Given the description of an element on the screen output the (x, y) to click on. 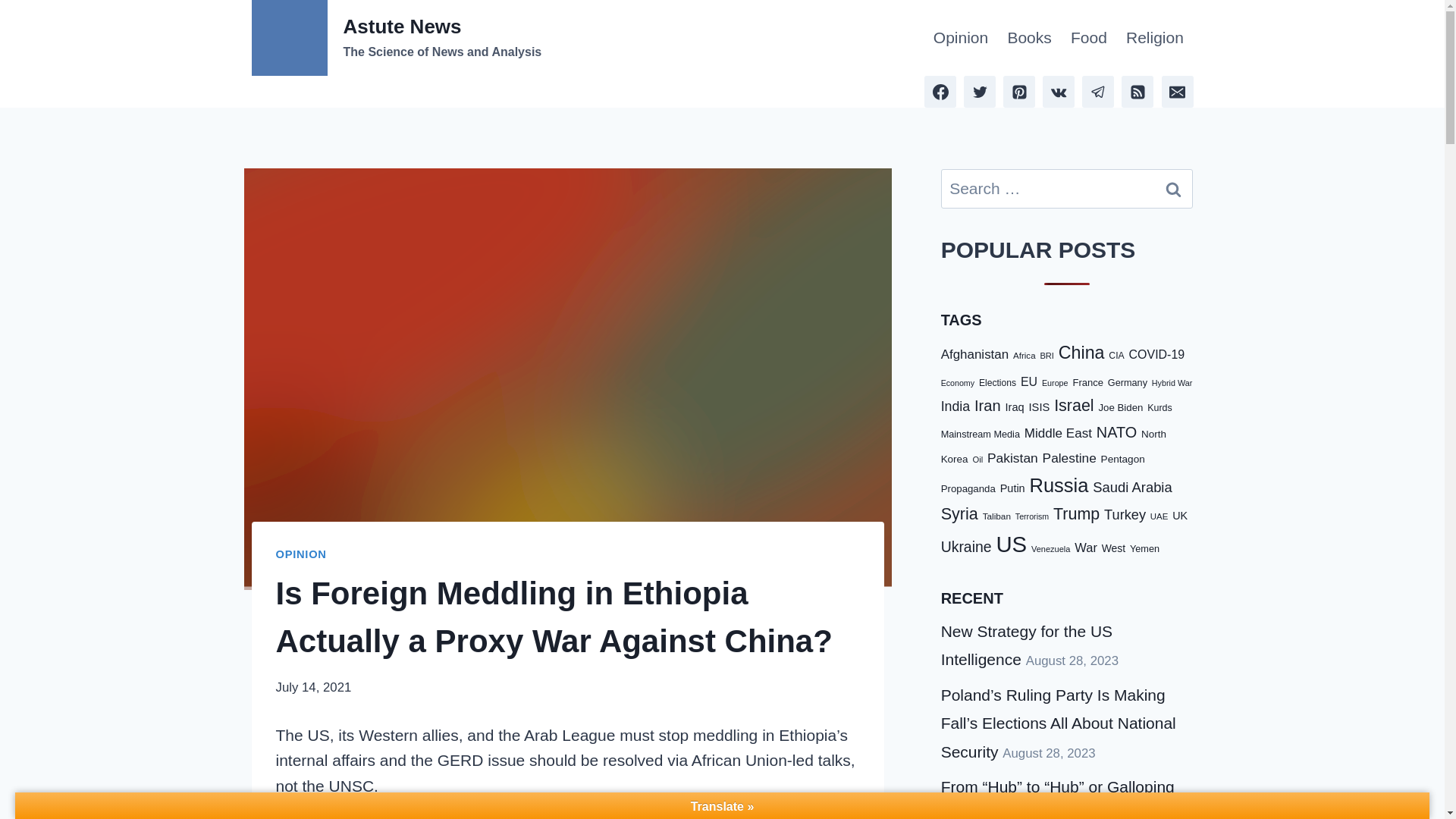
Religion (1154, 37)
Search (1173, 188)
Food (1088, 37)
Books (1029, 37)
OPINION (301, 553)
Opinion (396, 38)
Search (960, 37)
